Given the description of an element on the screen output the (x, y) to click on. 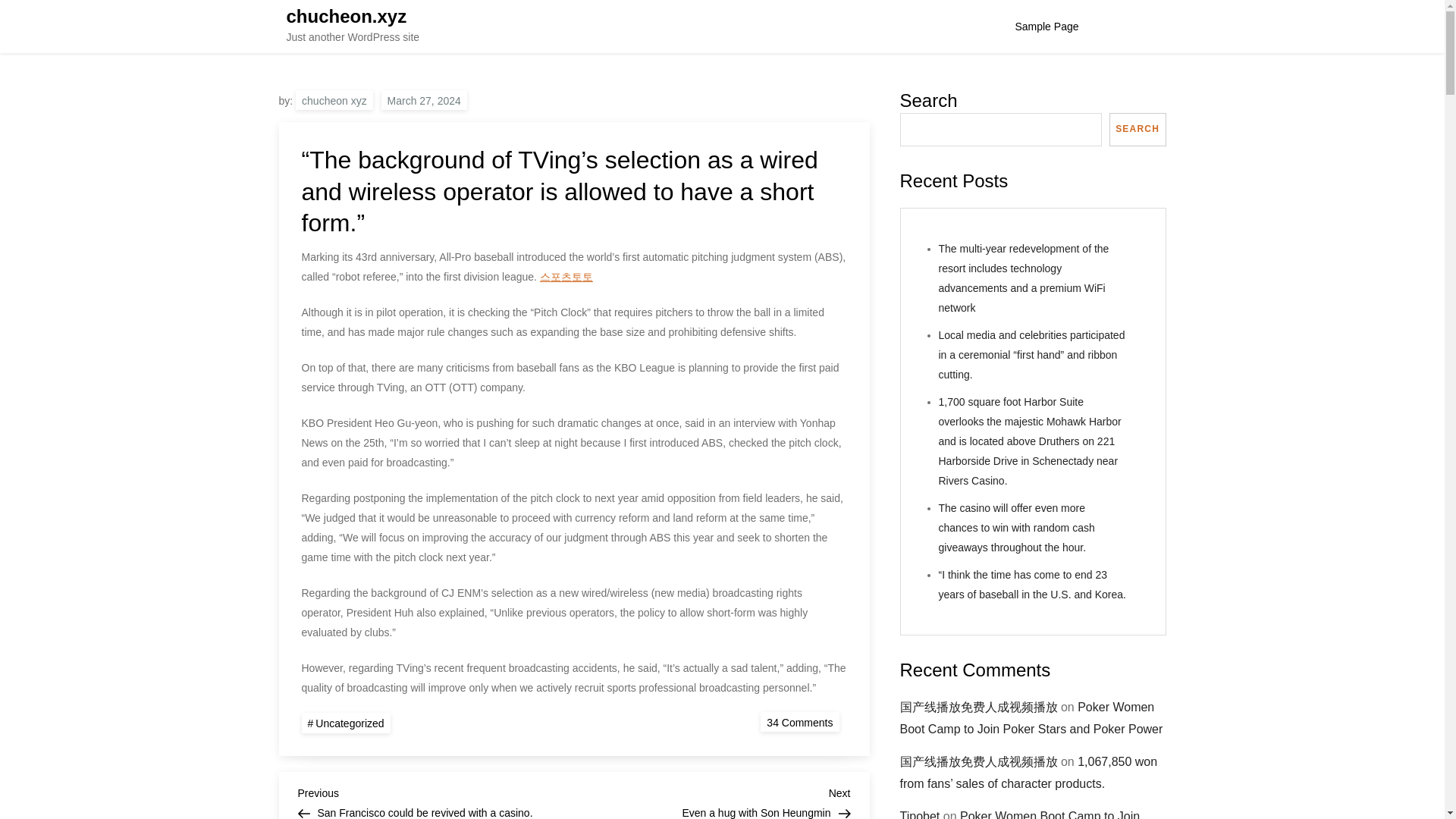
Sample Page (1046, 26)
chucheon xyz (333, 99)
March 27, 2024 (711, 800)
Uncategorized (424, 99)
chucheon.xyz (345, 722)
